Given the description of an element on the screen output the (x, y) to click on. 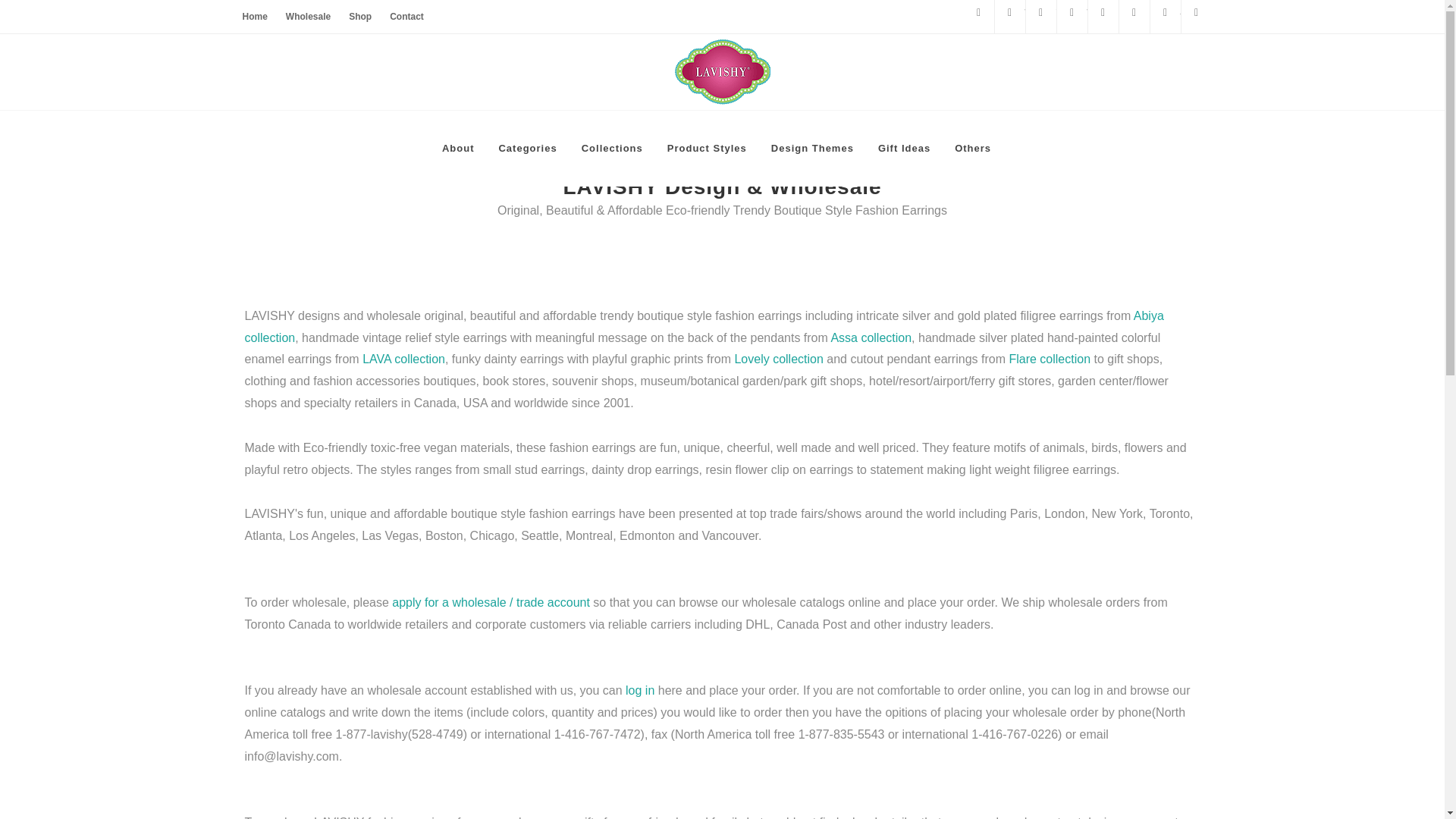
Home (254, 16)
Wholesale (307, 16)
Categories (526, 148)
Contact (406, 16)
Shop (359, 16)
Collections (611, 148)
